Given the description of an element on the screen output the (x, y) to click on. 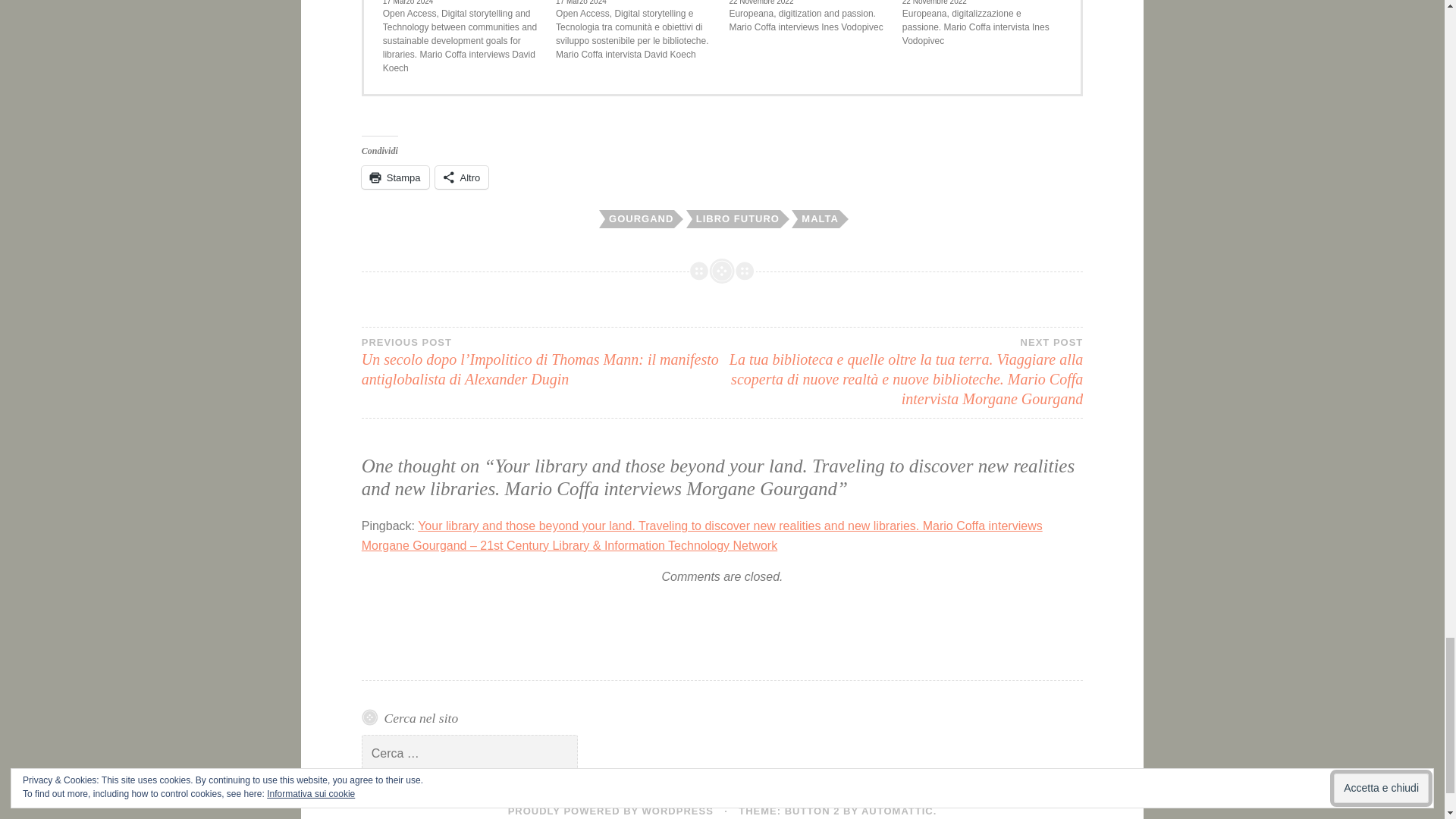
Fai clic qui per stampare (395, 177)
